Given the description of an element on the screen output the (x, y) to click on. 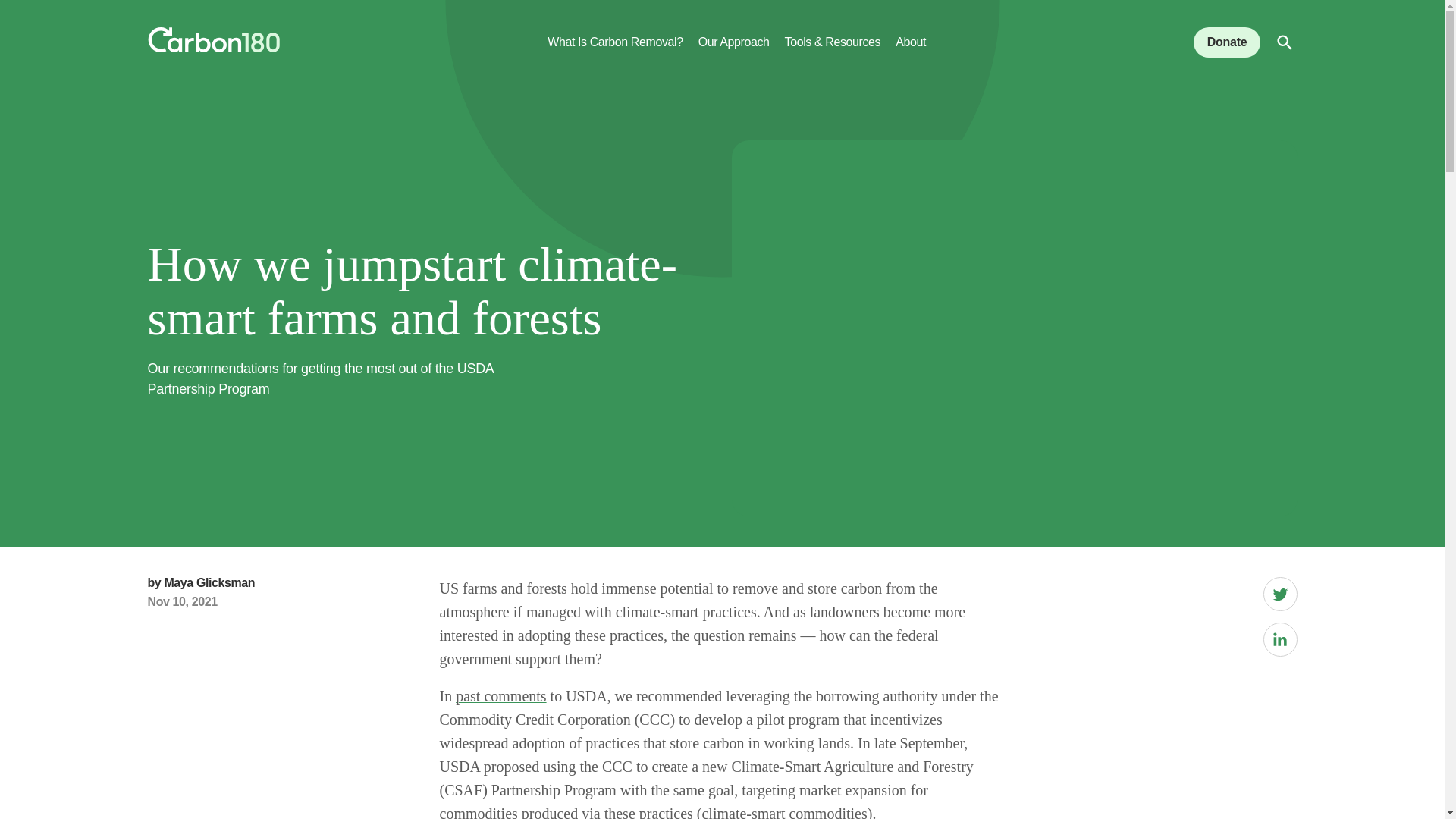
Open search form (1284, 42)
What Is Carbon Removal? (614, 51)
Donate (1226, 42)
Our Approach (734, 51)
Carbon180 Home (213, 42)
